Given the description of an element on the screen output the (x, y) to click on. 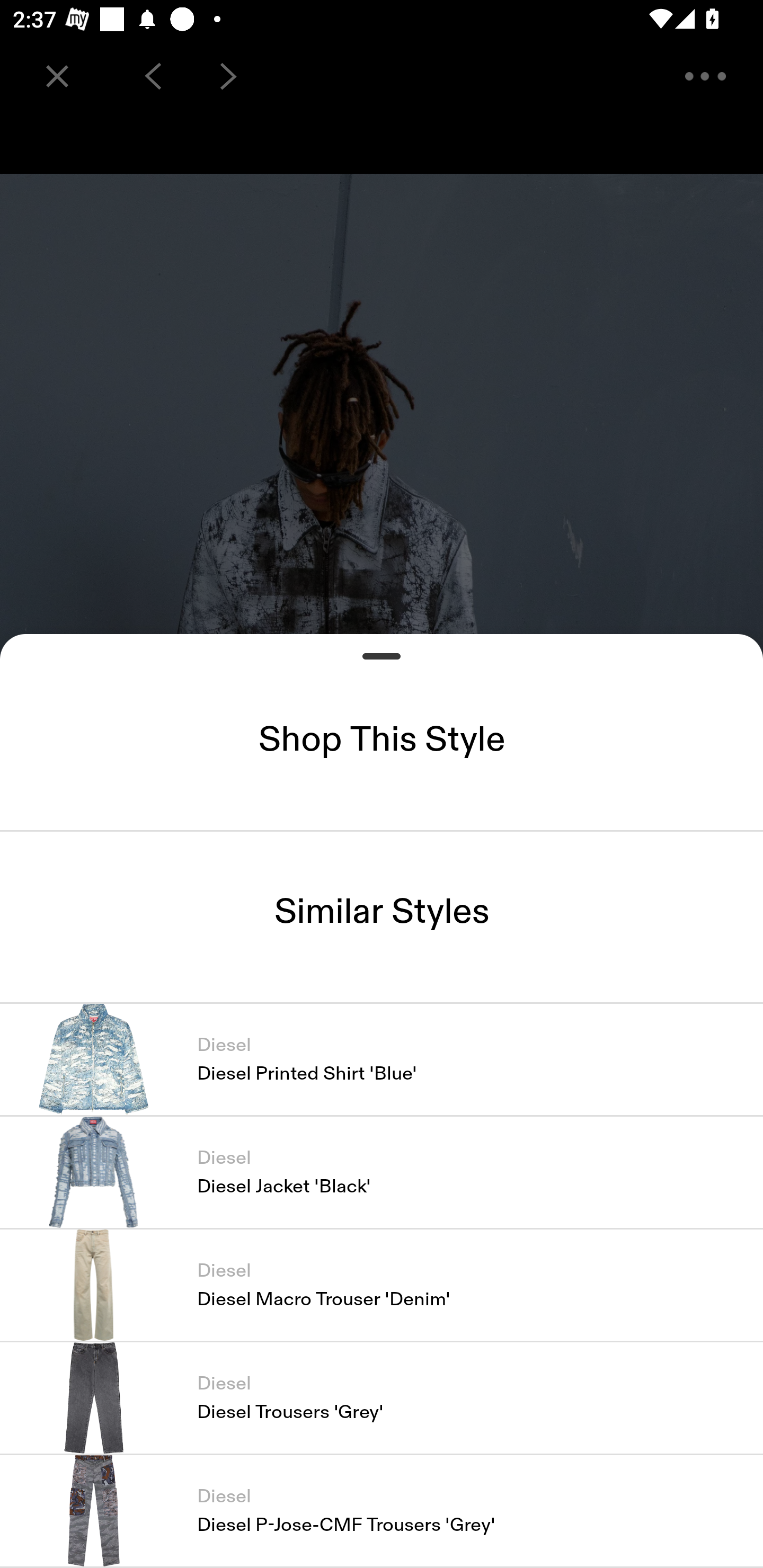
Diesel Diesel Printed Shirt 'Blue' (381, 1058)
Diesel Diesel Jacket 'Black' (381, 1171)
Diesel Diesel Macro Trouser 'Denim' (381, 1284)
Diesel Diesel Trousers 'Grey' (381, 1397)
Diesel Diesel P-Jose-CMF Trousers 'Grey' (381, 1510)
